Given the description of an element on the screen output the (x, y) to click on. 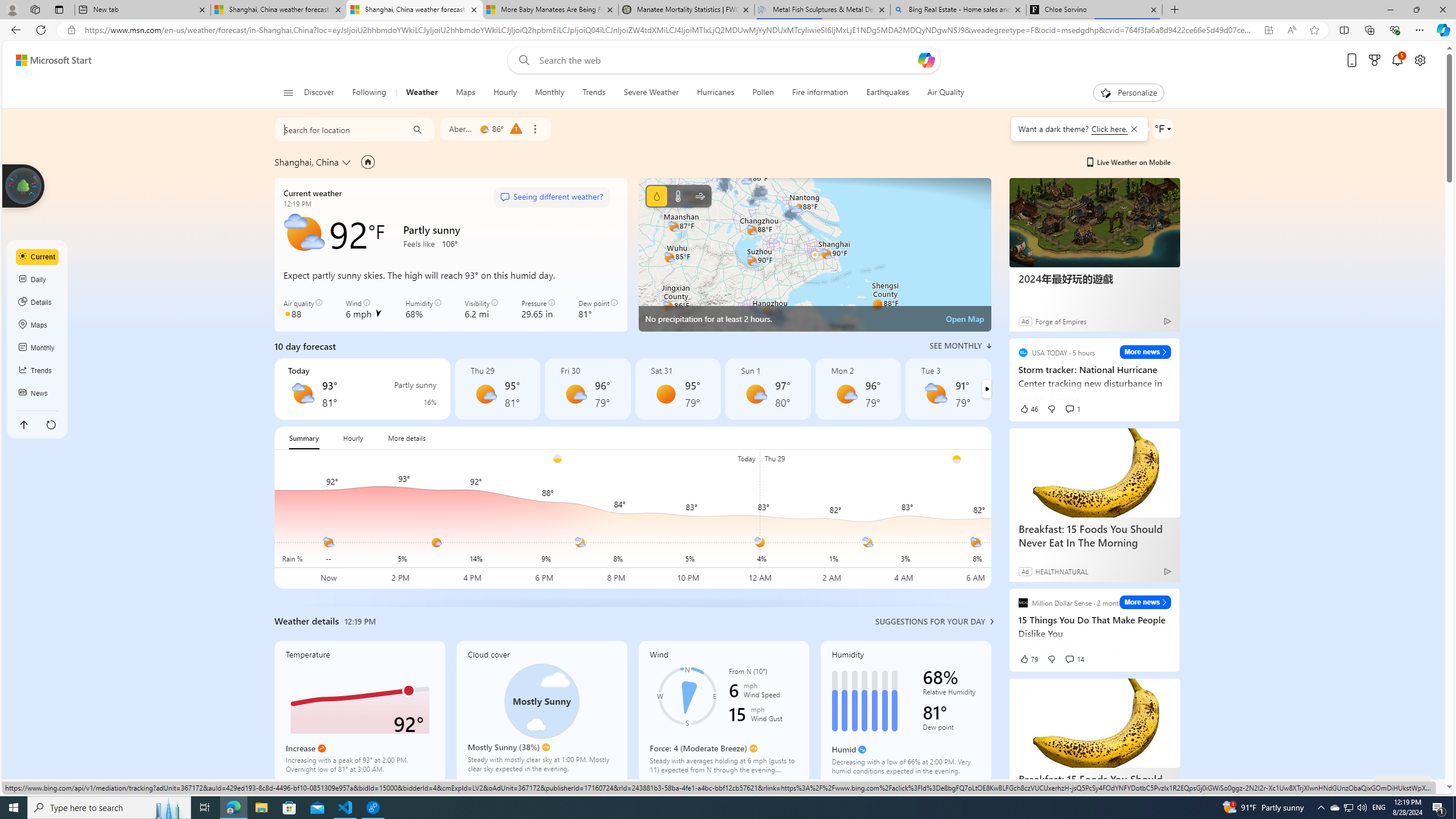
Maps (465, 92)
Advertise (1263, 785)
Following (368, 92)
Collections (1369, 29)
Earthquakes (888, 92)
Notifications (1397, 60)
